Given the description of an element on the screen output the (x, y) to click on. 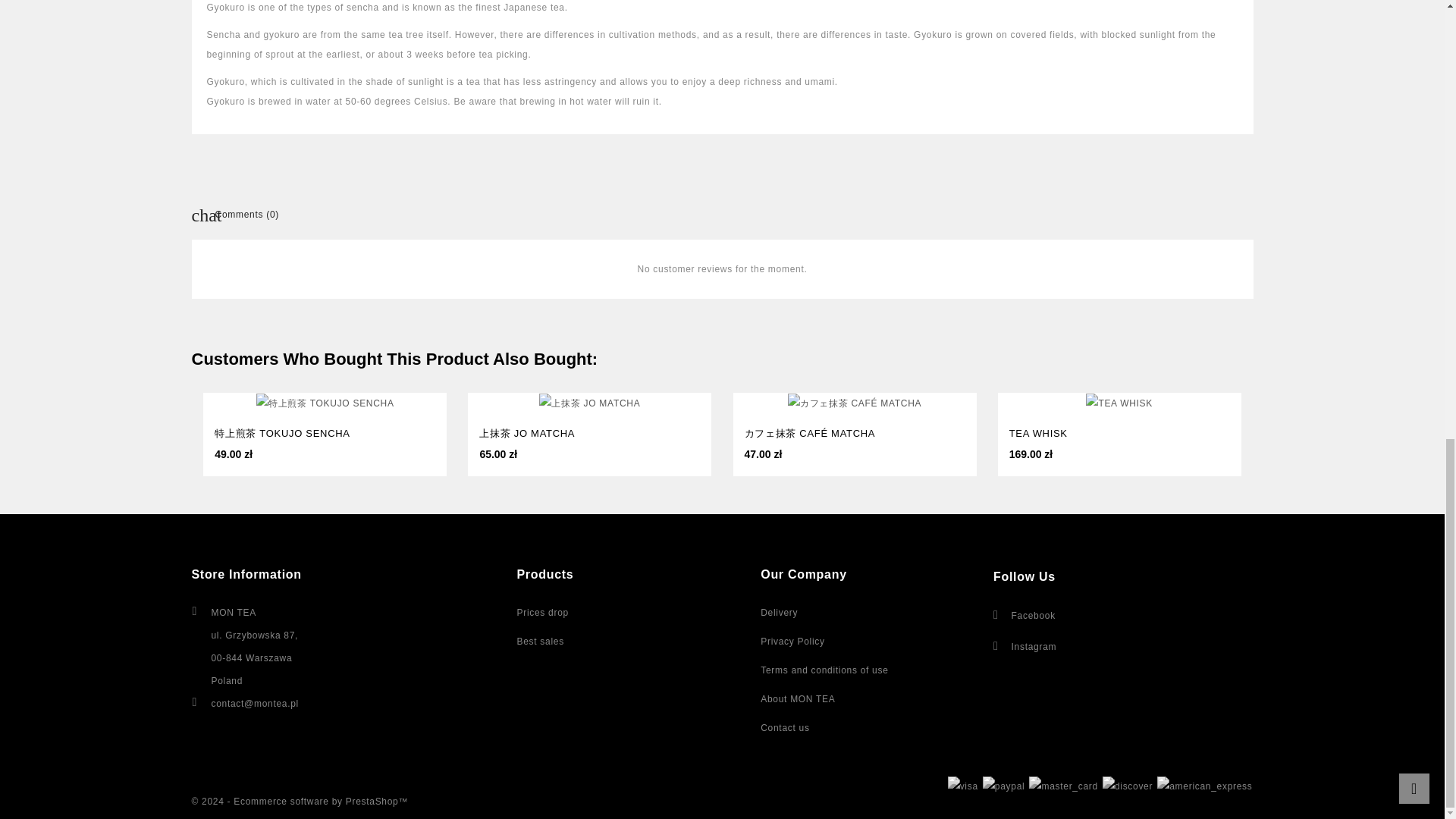
Our terms and conditions of use (824, 670)
Our special products (542, 612)
Our best sales (540, 641)
Our terms and conditions of delivery (778, 612)
